Given the description of an element on the screen output the (x, y) to click on. 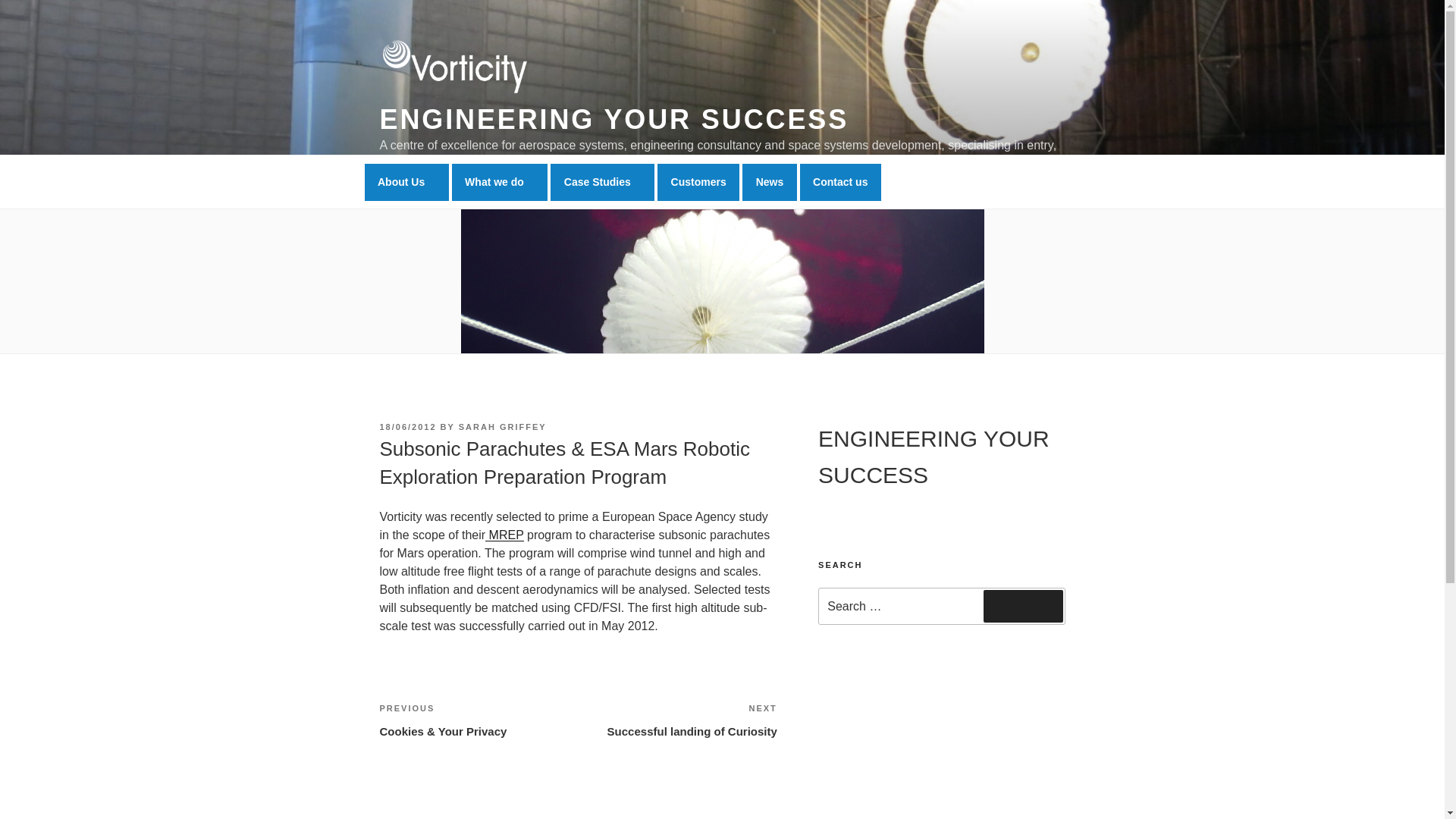
 MREP (503, 534)
Search (677, 719)
Customers (1023, 605)
SARAH GRIFFEY (698, 181)
Case Studies (502, 426)
Contact us (601, 181)
About Us (839, 181)
What we do (406, 181)
ENGINEERING YOUR SUCCESS (499, 181)
